Given the description of an element on the screen output the (x, y) to click on. 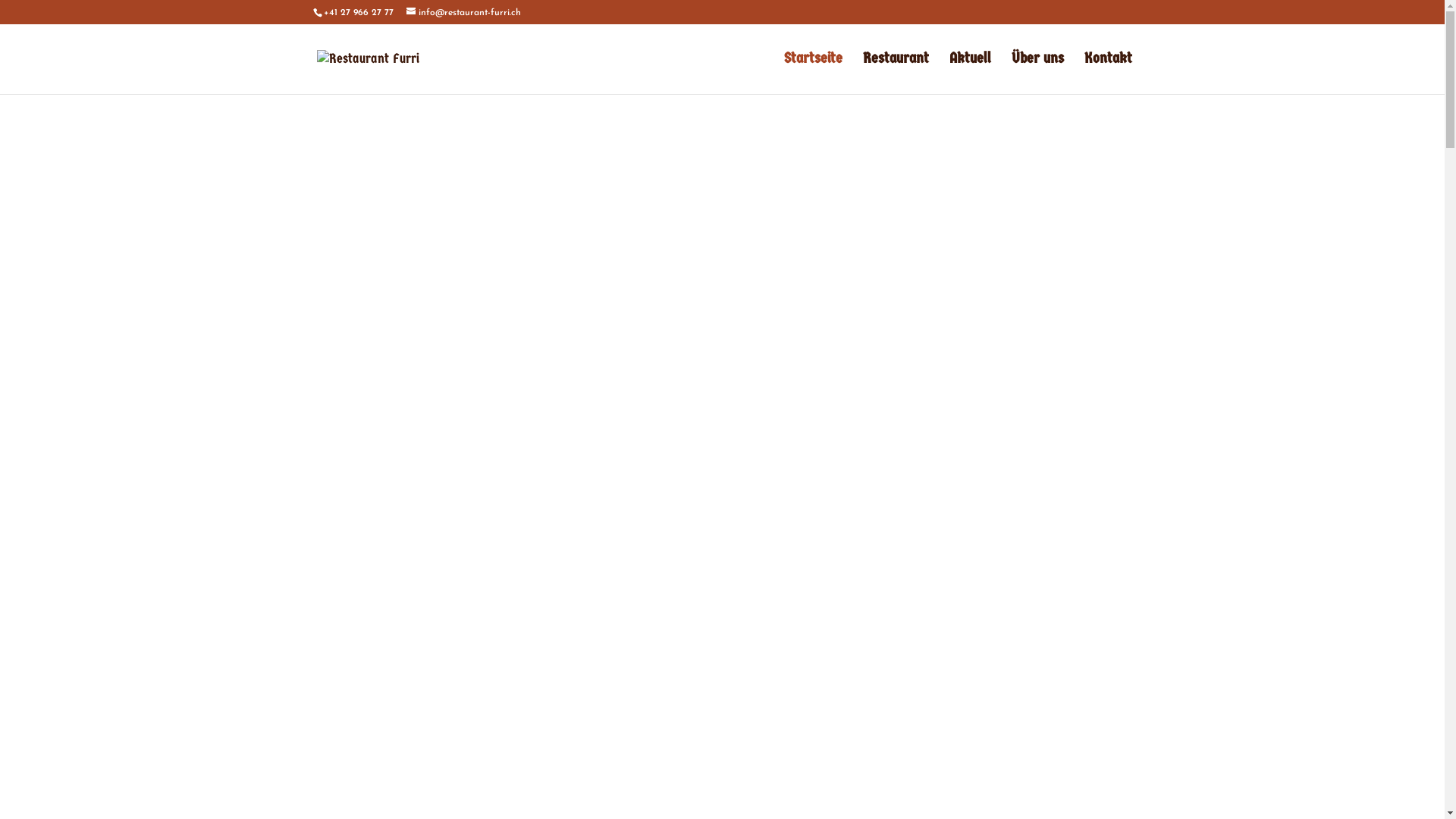
Startseite Element type: text (813, 73)
info@restaurant-furri.ch Element type: text (463, 12)
Restaurant Element type: text (895, 73)
Kontakt Element type: text (1108, 73)
Aktuell Element type: text (970, 73)
